Given the description of an element on the screen output the (x, y) to click on. 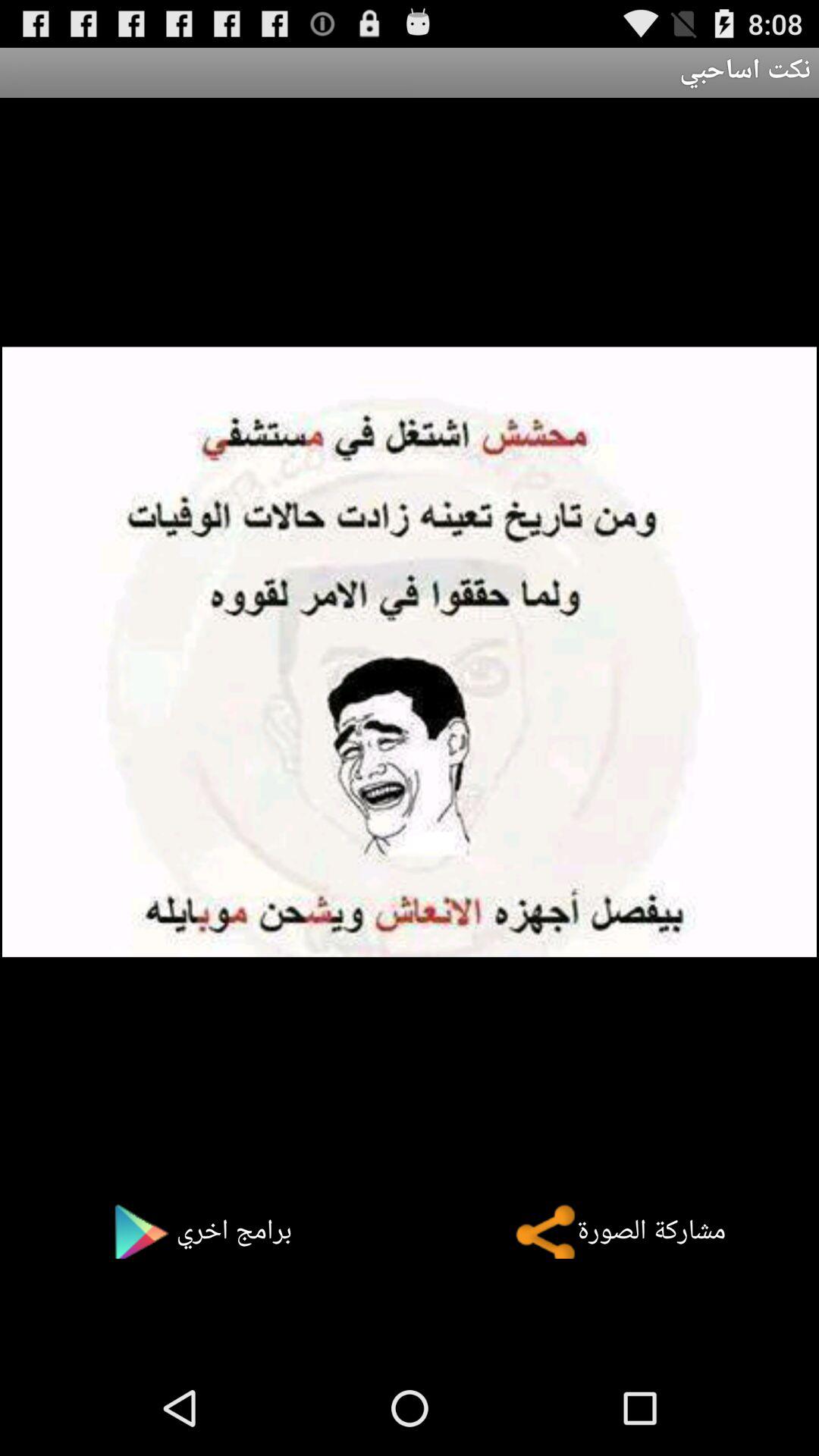
turn on the button at the bottom left corner (192, 1231)
